Given the description of an element on the screen output the (x, y) to click on. 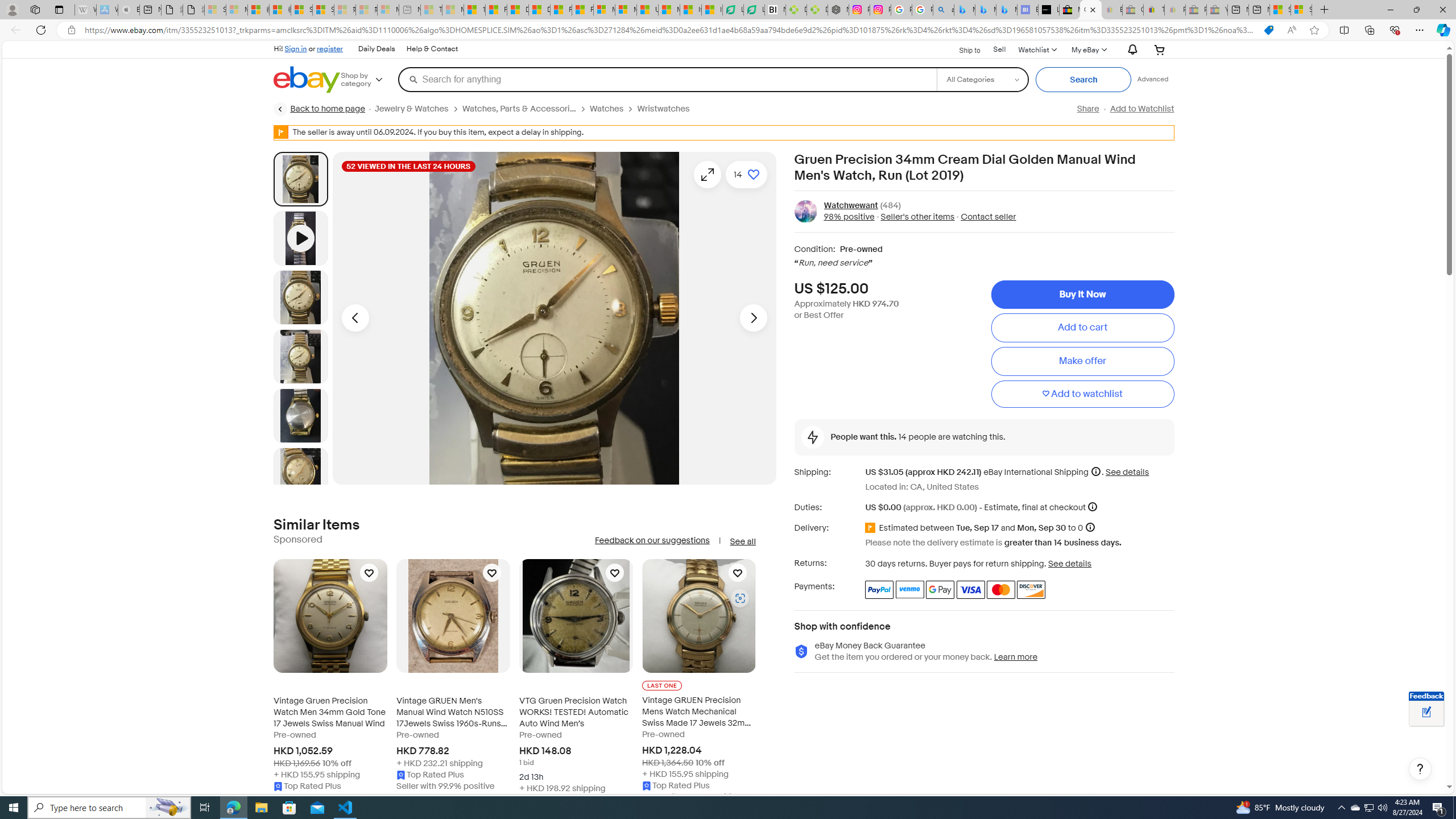
Watchlist (1036, 49)
Add to watchlist (1082, 394)
Master Card (999, 588)
Class: ux-action (804, 210)
Picture 2 of 13 (300, 297)
Buy It Now (1082, 294)
Add to cart (1082, 328)
Nvidia va a poner a prueba la paciencia de los inversores (775, 9)
More information (1092, 506)
Add to watchlist (1082, 394)
